Given the description of an element on the screen output the (x, y) to click on. 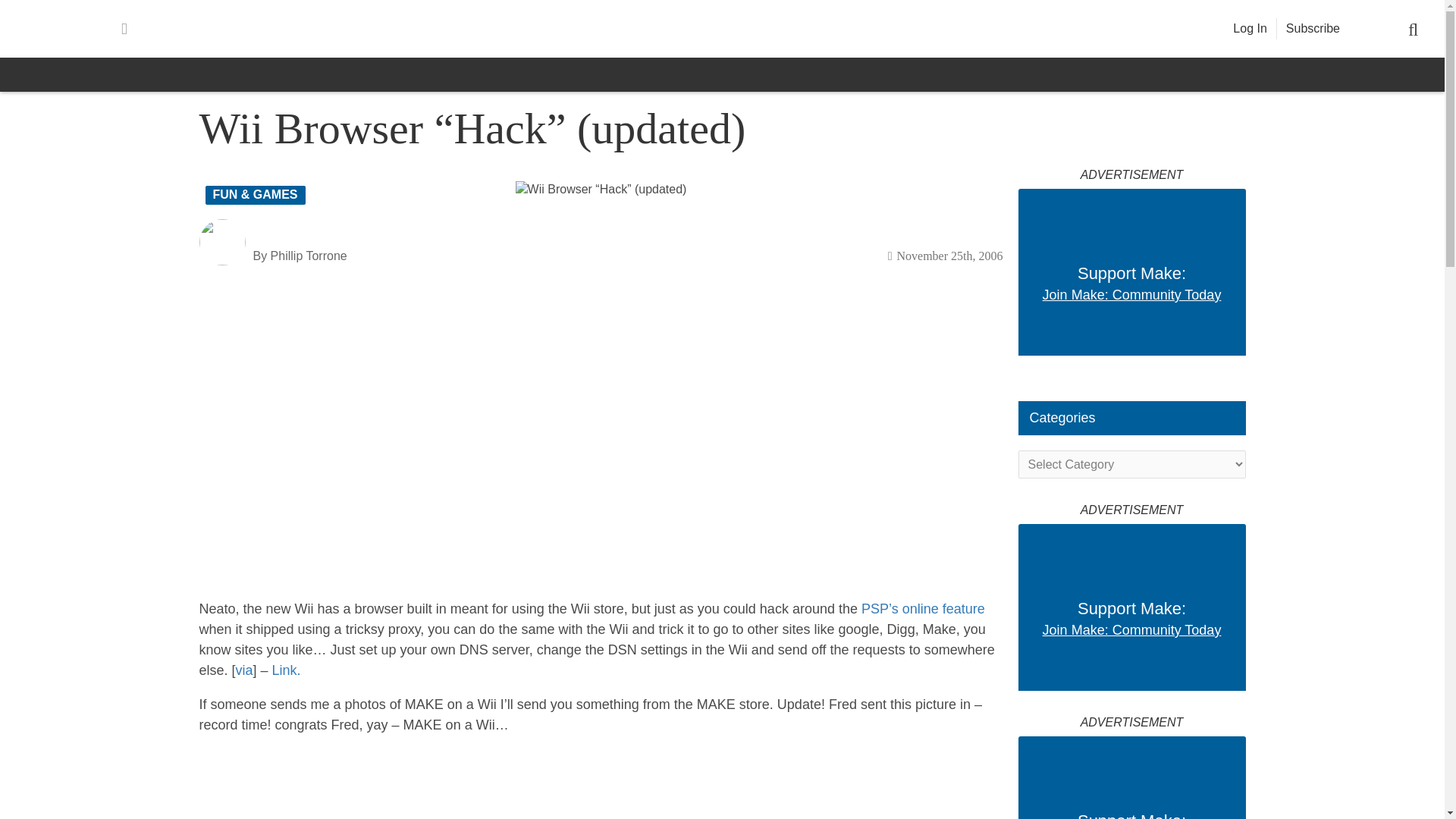
Log In (1249, 28)
